Given the description of an element on the screen output the (x, y) to click on. 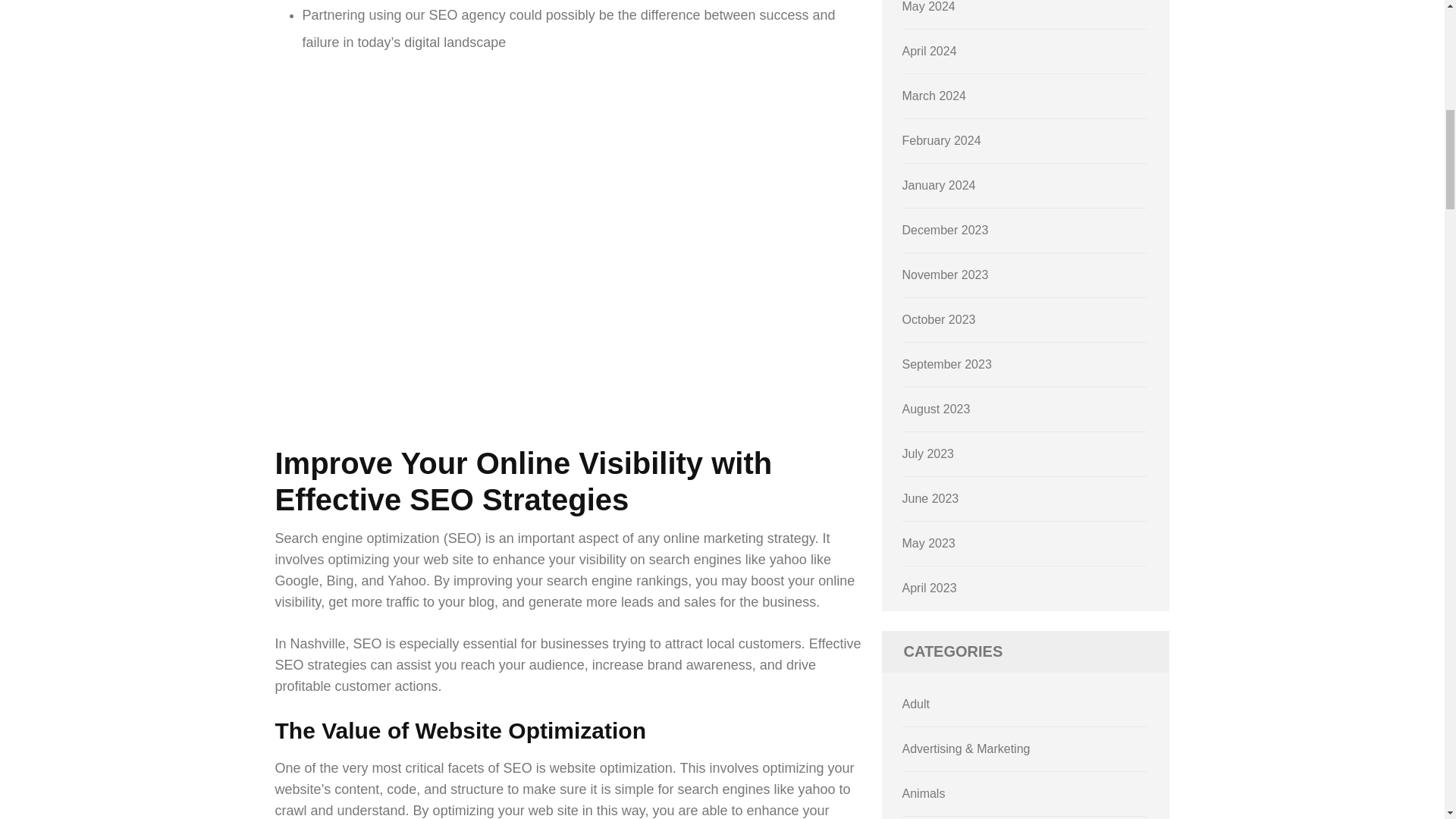
October 2023 (938, 318)
January 2024 (938, 185)
March 2024 (934, 95)
May 2023 (928, 543)
November 2023 (945, 274)
April 2023 (929, 587)
May 2024 (928, 6)
February 2024 (941, 140)
Adult (916, 703)
December 2023 (945, 229)
July 2023 (928, 453)
June 2023 (930, 498)
August 2023 (936, 408)
September 2023 (946, 364)
April 2024 (929, 51)
